Given the description of an element on the screen output the (x, y) to click on. 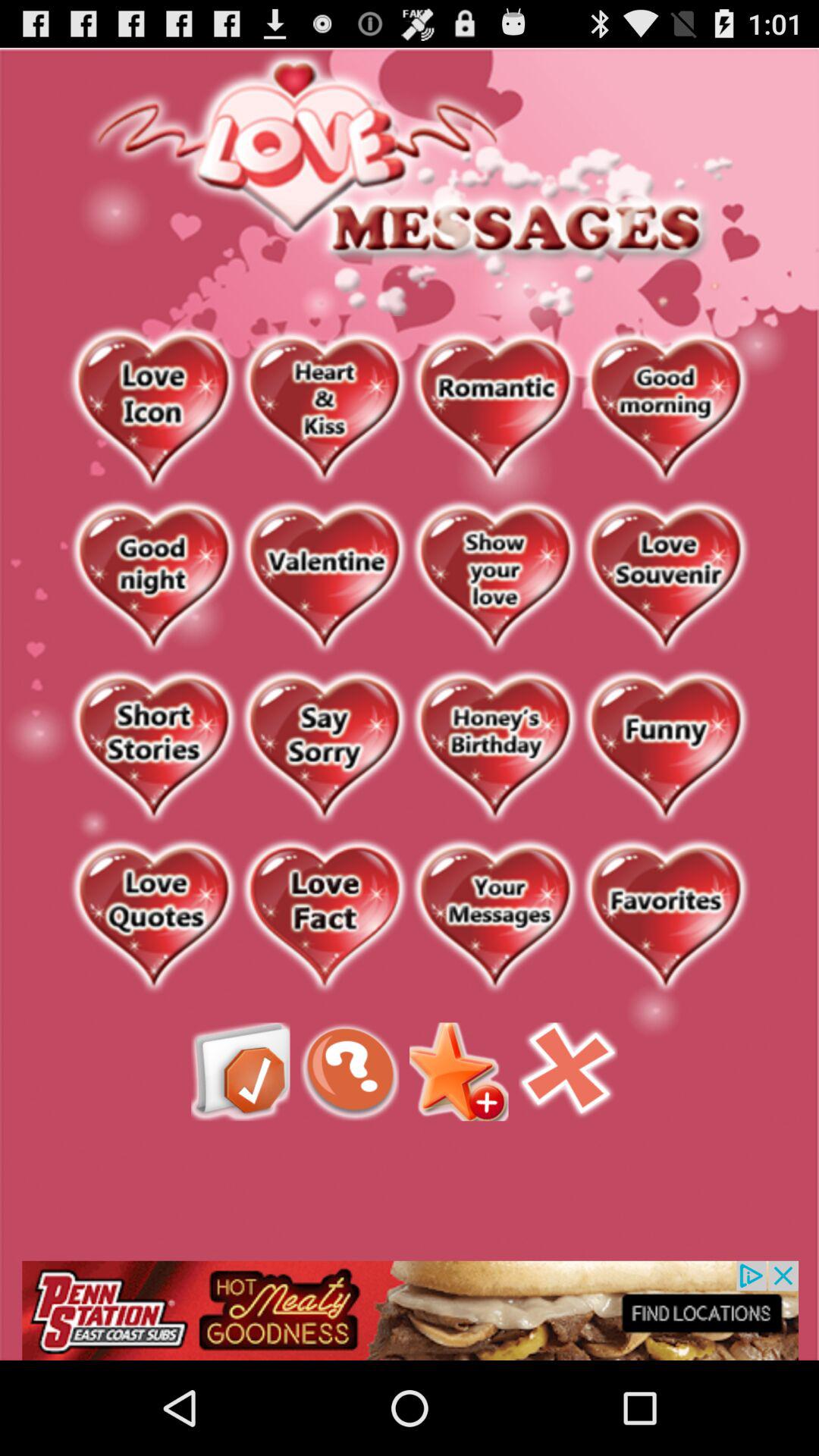
favorites option (665, 917)
